Given the description of an element on the screen output the (x, y) to click on. 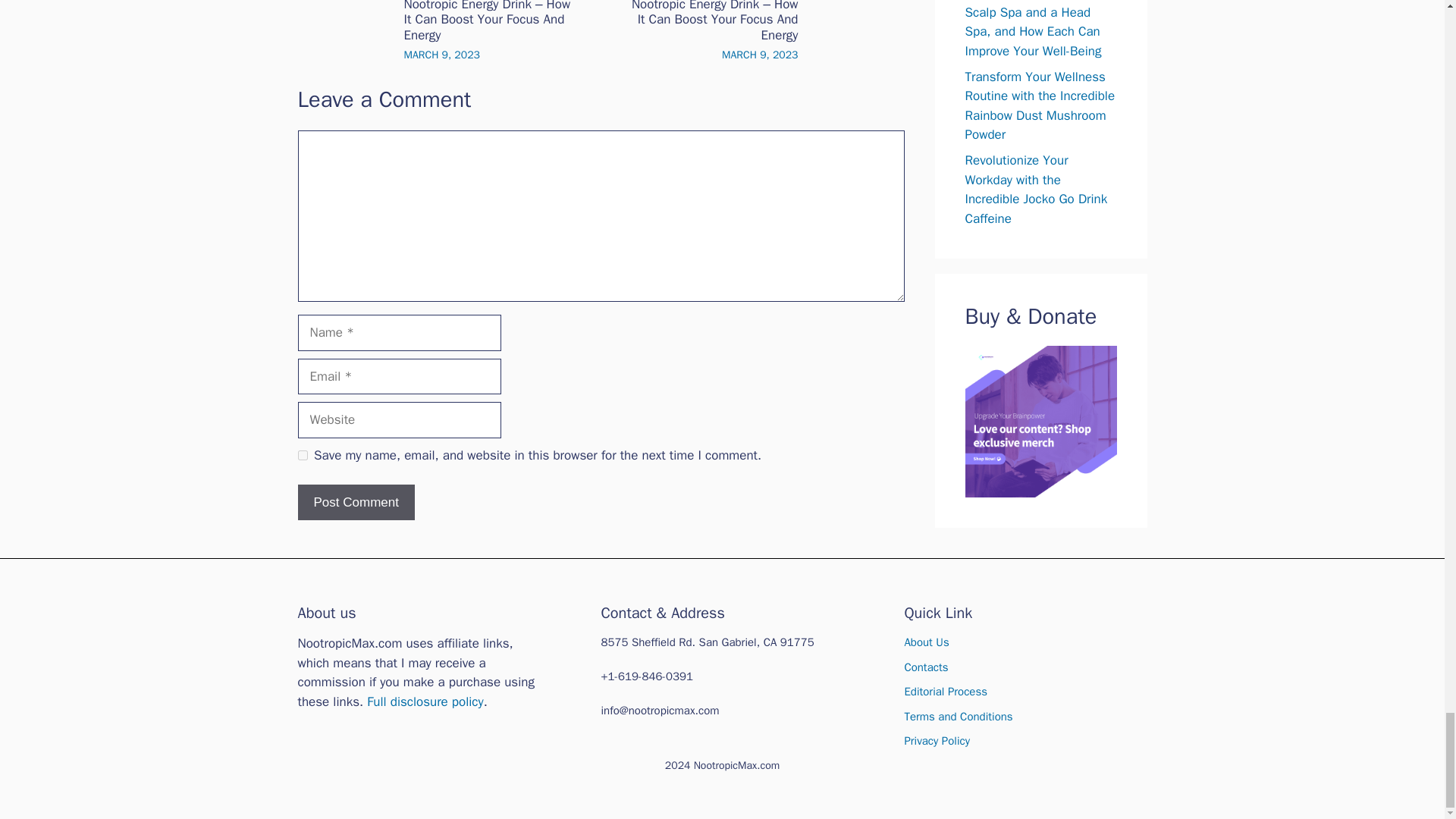
yes (302, 455)
Post Comment (355, 502)
Post Comment (355, 502)
